Given the description of an element on the screen output the (x, y) to click on. 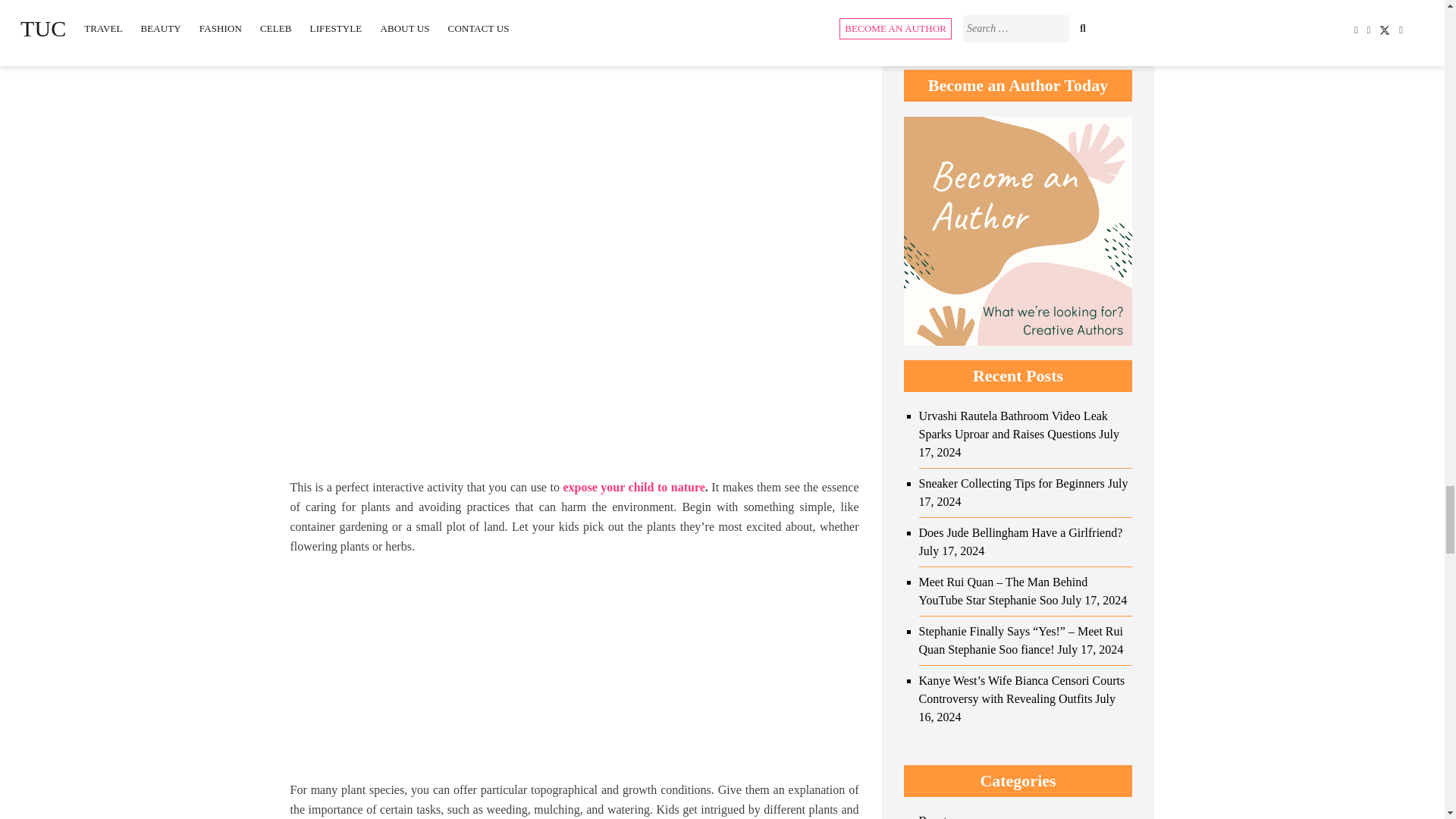
expose your child to nature (633, 486)
